Given the description of an element on the screen output the (x, y) to click on. 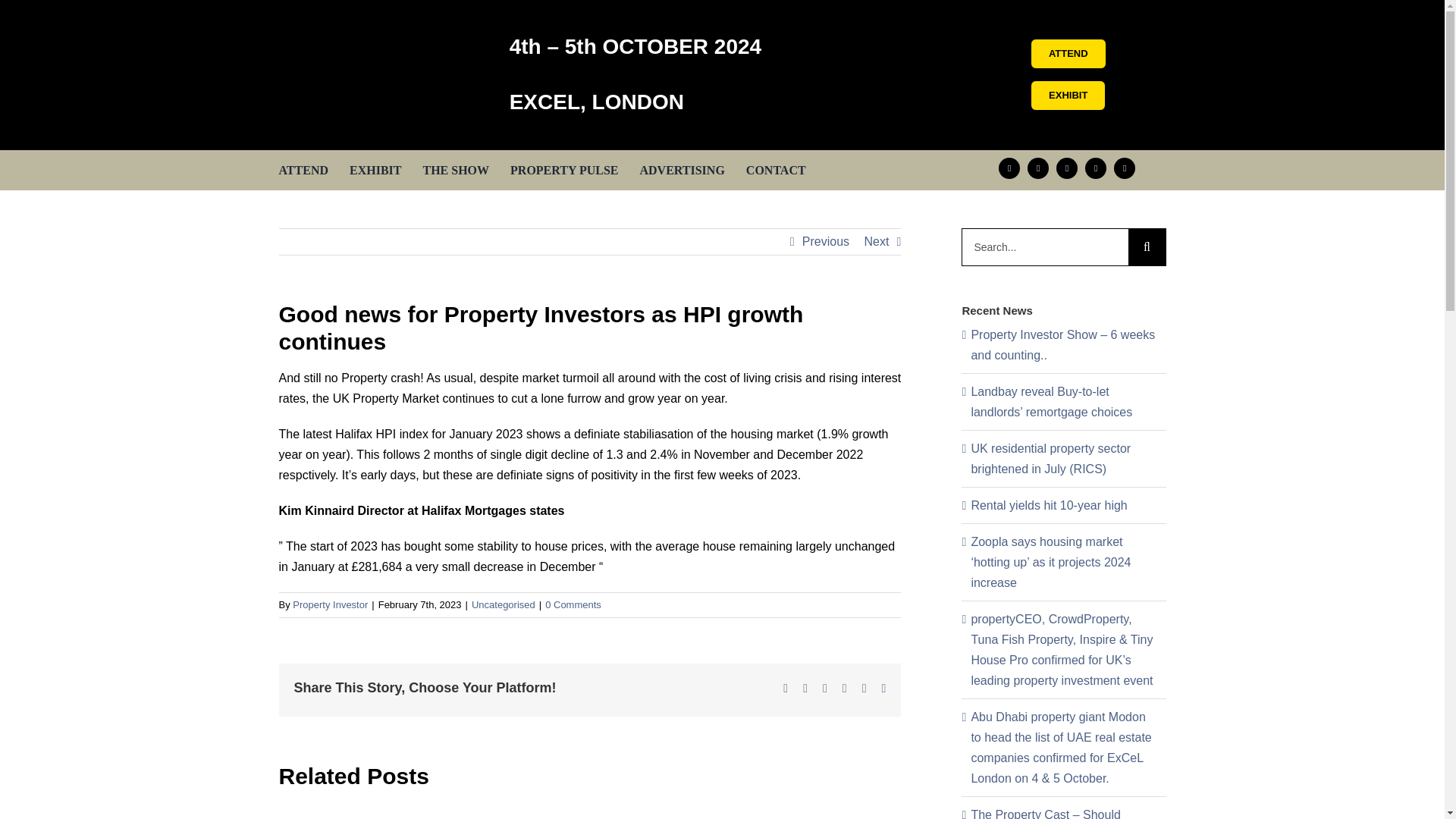
THE SHOW (455, 169)
ATTEND (1068, 53)
Facebook (1009, 168)
ATTEND (304, 169)
PROPERTY PULSE (564, 169)
EXHIBIT (375, 169)
Posts by Property Investor (330, 604)
EXHIBIT (1067, 95)
YouTube (1067, 168)
ADVERTISING (681, 169)
